Given the description of an element on the screen output the (x, y) to click on. 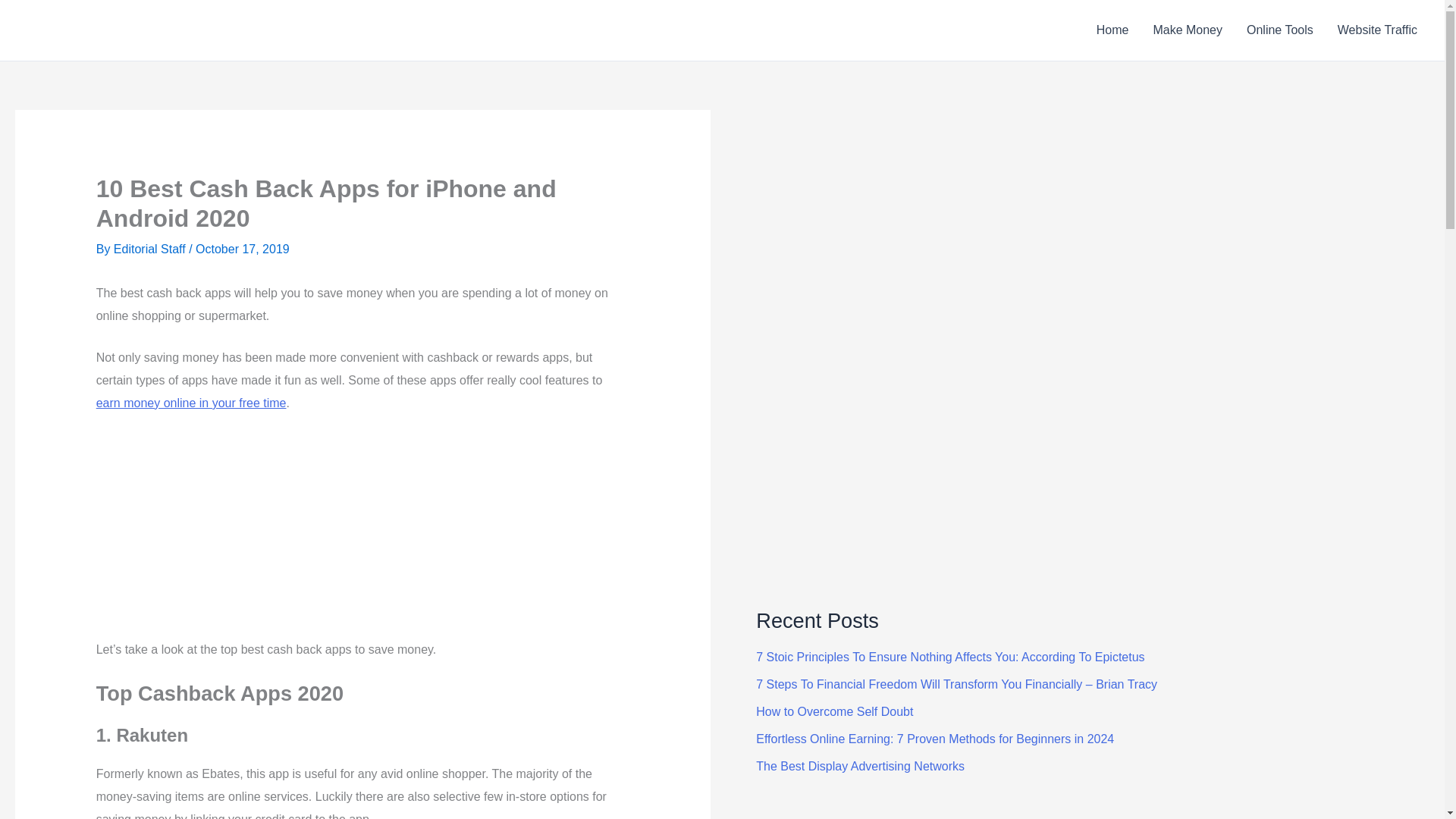
earn money online in your free time (191, 402)
Advertisement (225, 528)
View all posts by Editorial Staff (151, 248)
The Best Display Advertising Networks (859, 766)
Editorial Staff (151, 248)
Website Traffic (1376, 30)
Make Money (1187, 30)
Online Tools (1279, 30)
